Given the description of an element on the screen output the (x, y) to click on. 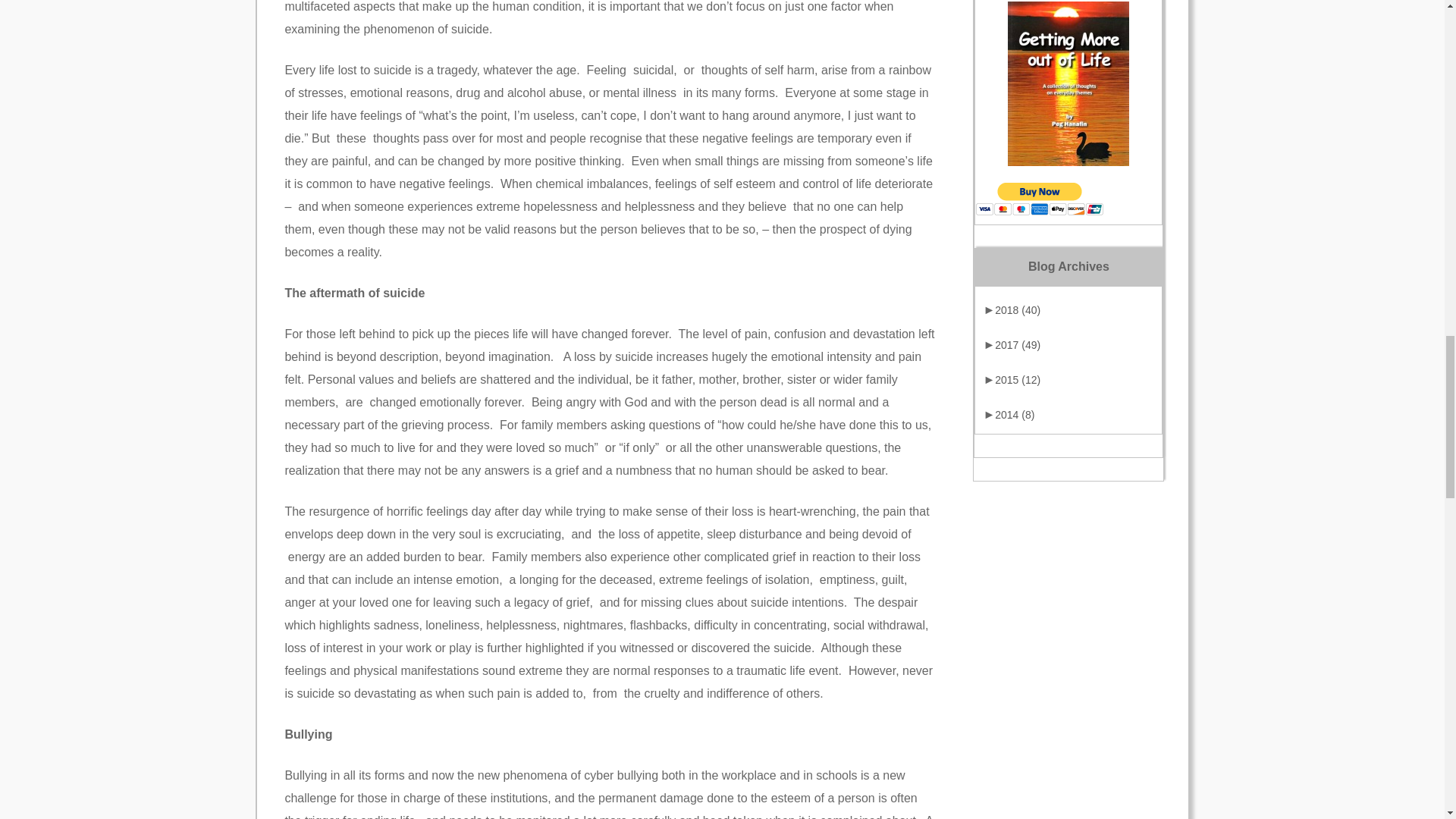
click to expand (1011, 309)
click to expand (1011, 344)
click to expand (1011, 379)
